Given the description of an element on the screen output the (x, y) to click on. 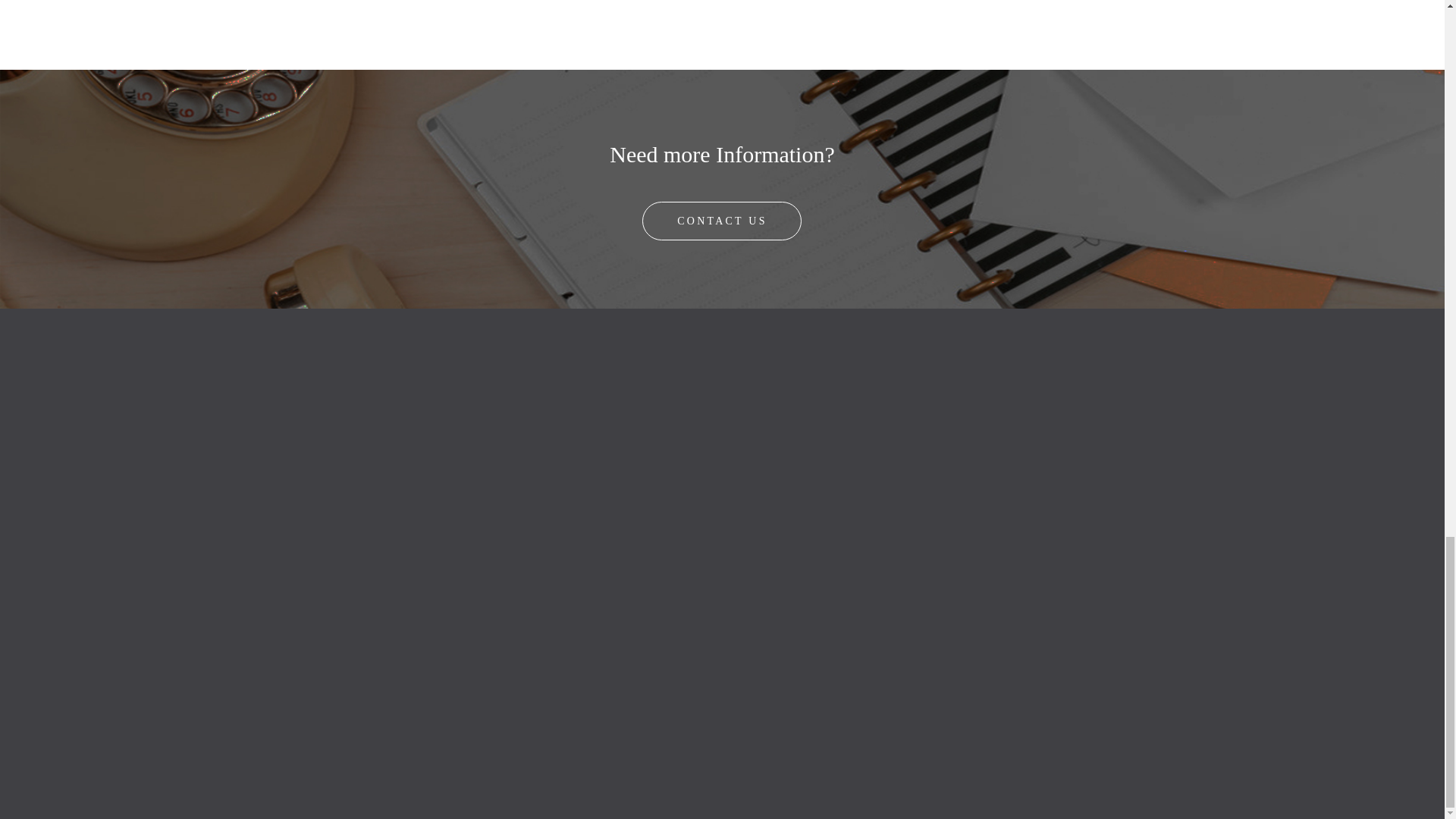
CONTACT US (722, 220)
